Given the description of an element on the screen output the (x, y) to click on. 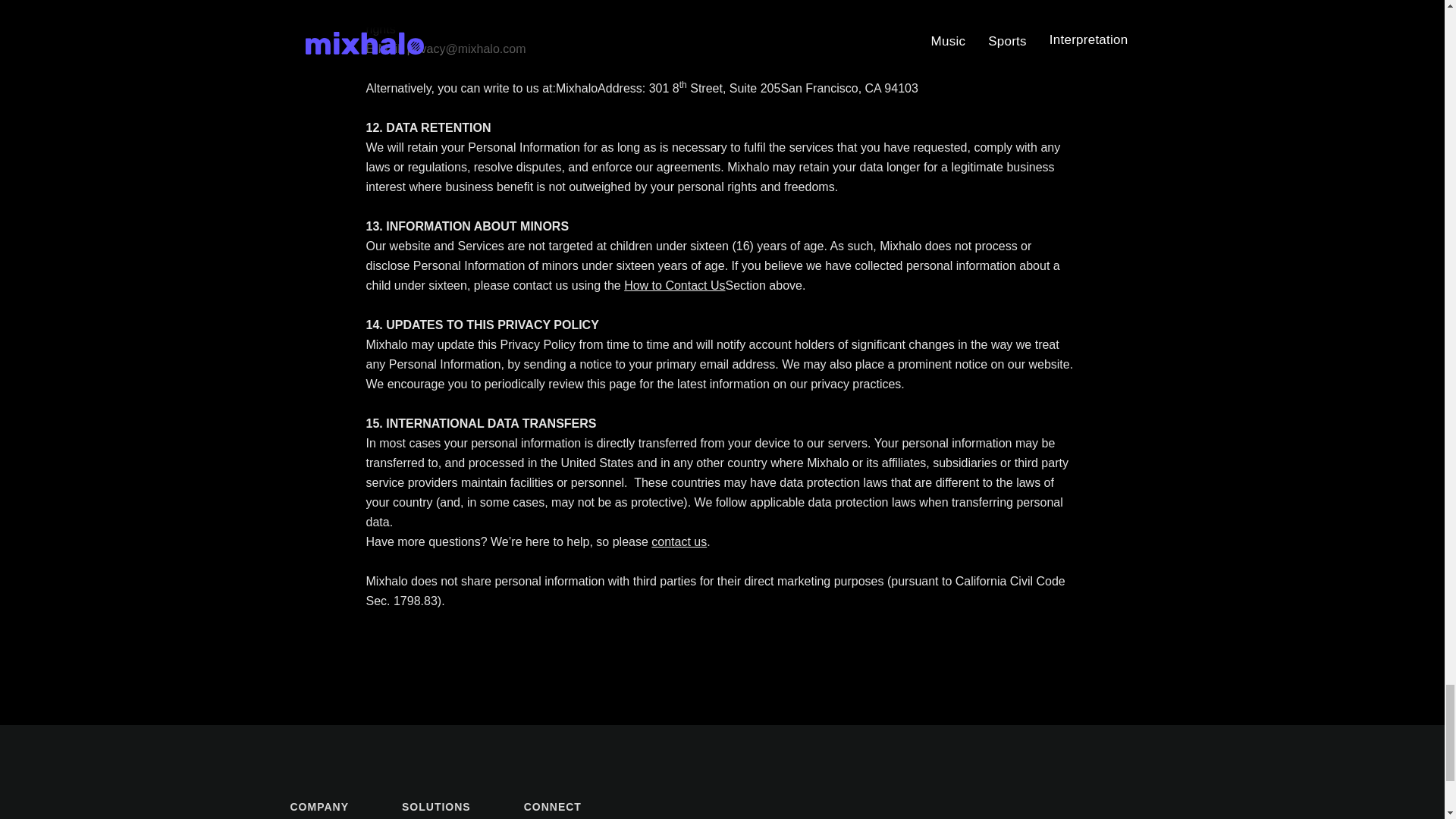
How to Contact Us (674, 285)
contact us (678, 541)
